Given the description of an element on the screen output the (x, y) to click on. 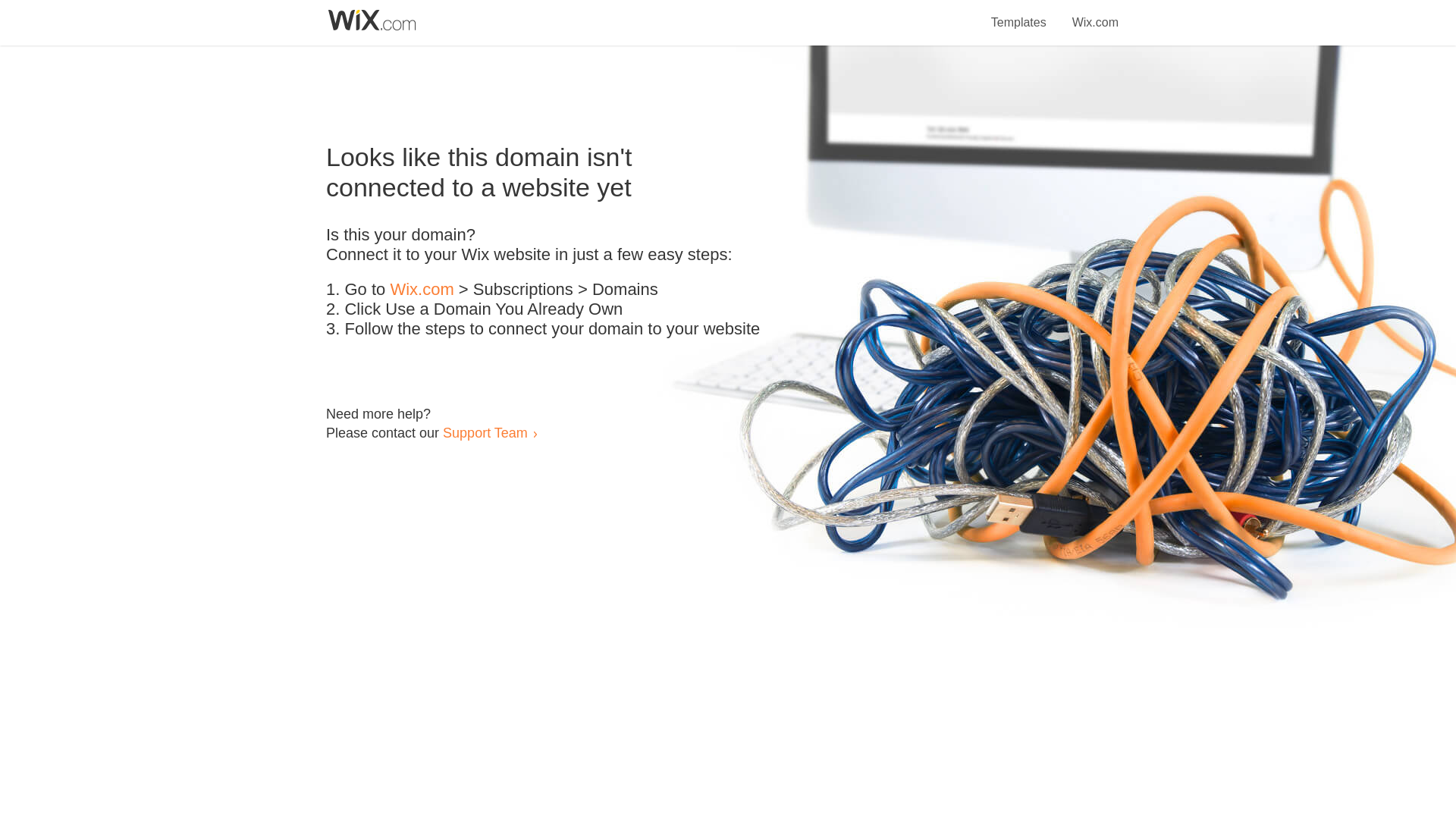
Templates (1018, 14)
Wix.com (1095, 14)
Wix.com (421, 289)
Support Team (484, 432)
